Given the description of an element on the screen output the (x, y) to click on. 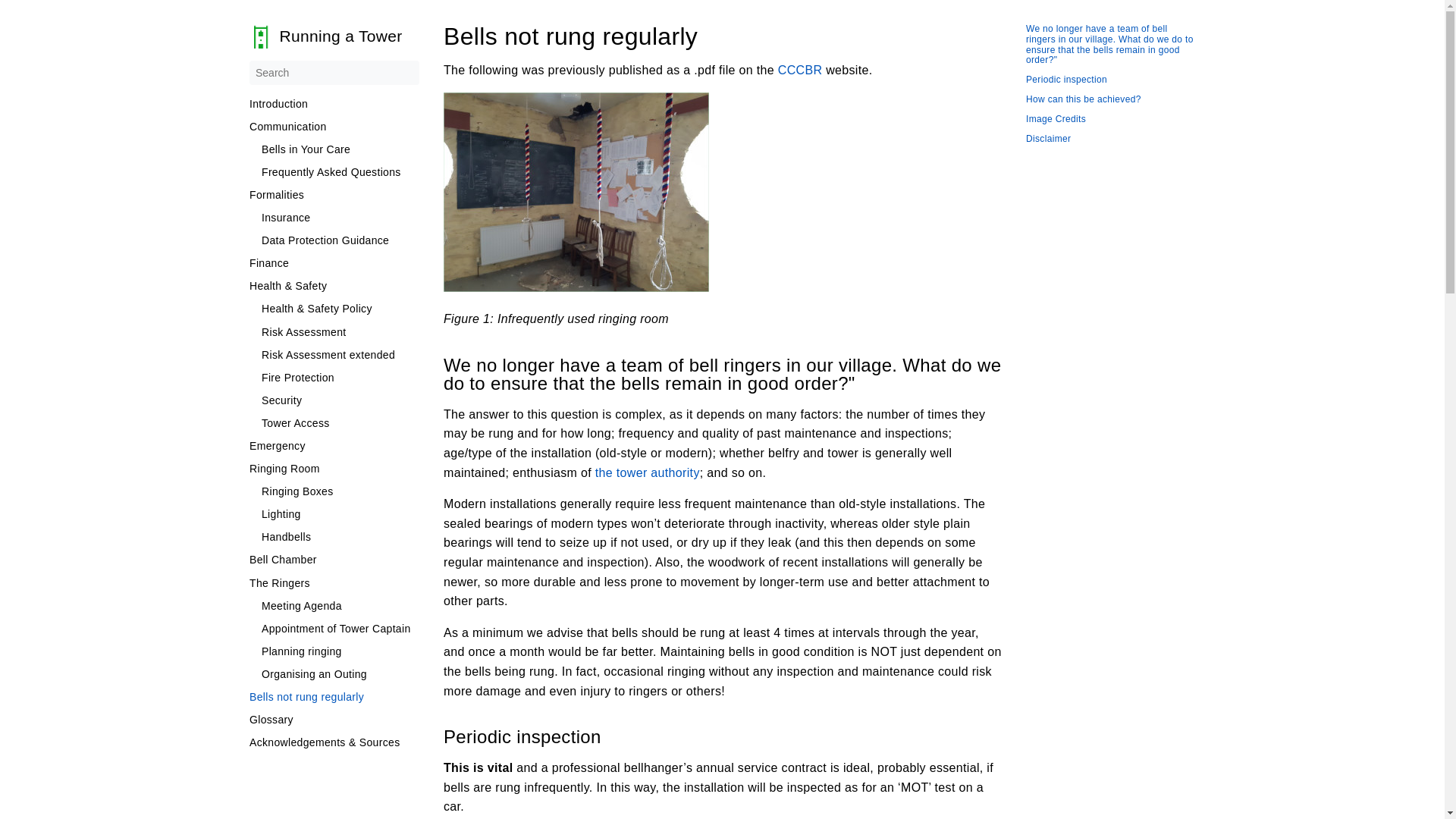
Communication (333, 126)
Planning ringing (339, 651)
Introduction (333, 103)
The Ringers (333, 582)
Lighting (339, 513)
Meeting Agenda (339, 605)
Insurance (339, 217)
Formalities (333, 194)
Glossary (333, 719)
Emergency (333, 445)
